Given the description of an element on the screen output the (x, y) to click on. 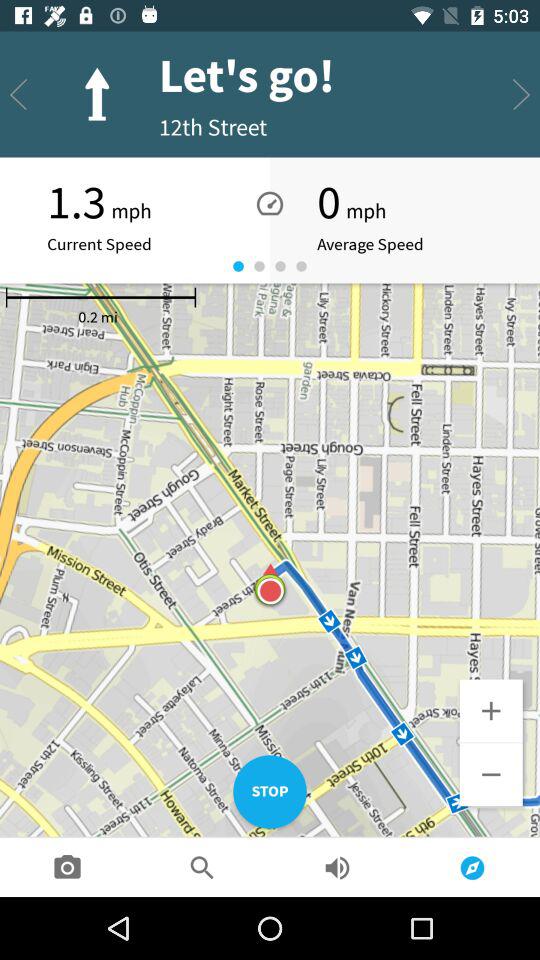
turn off stop icon (269, 791)
